Given the description of an element on the screen output the (x, y) to click on. 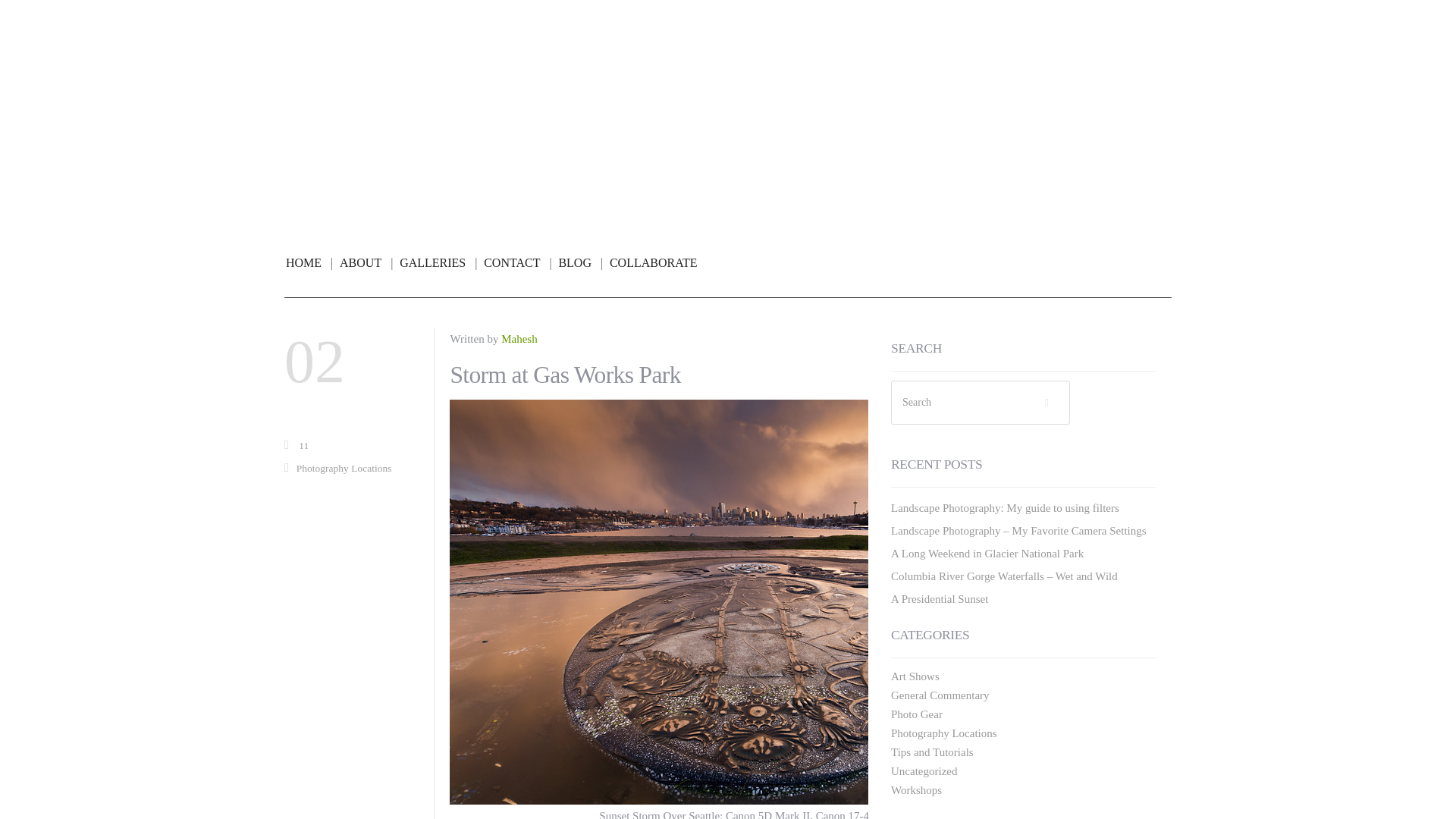
Upcoming Arts and Crafts shows I will be participating in. (915, 676)
BLOG (580, 263)
HOME (308, 263)
CONTACT (517, 263)
11 (303, 445)
Photography Locations (344, 468)
ABOUT (365, 263)
COLLABORATE (653, 263)
GALLERIES (438, 263)
Mahesh (518, 338)
Blog on where, when, and how to take great photographs (728, 110)
